Given the description of an element on the screen output the (x, y) to click on. 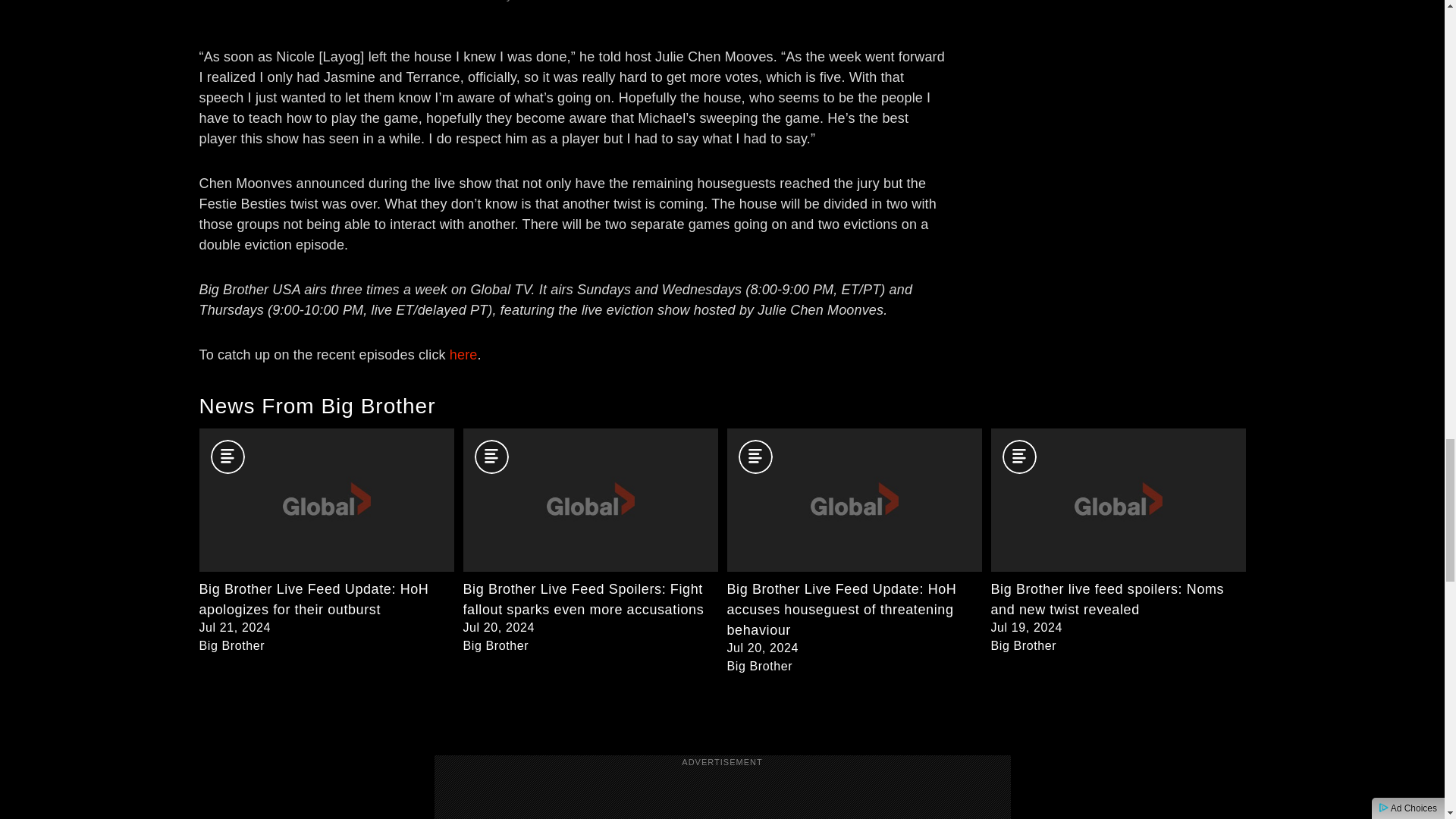
here (463, 354)
